Given the description of an element on the screen output the (x, y) to click on. 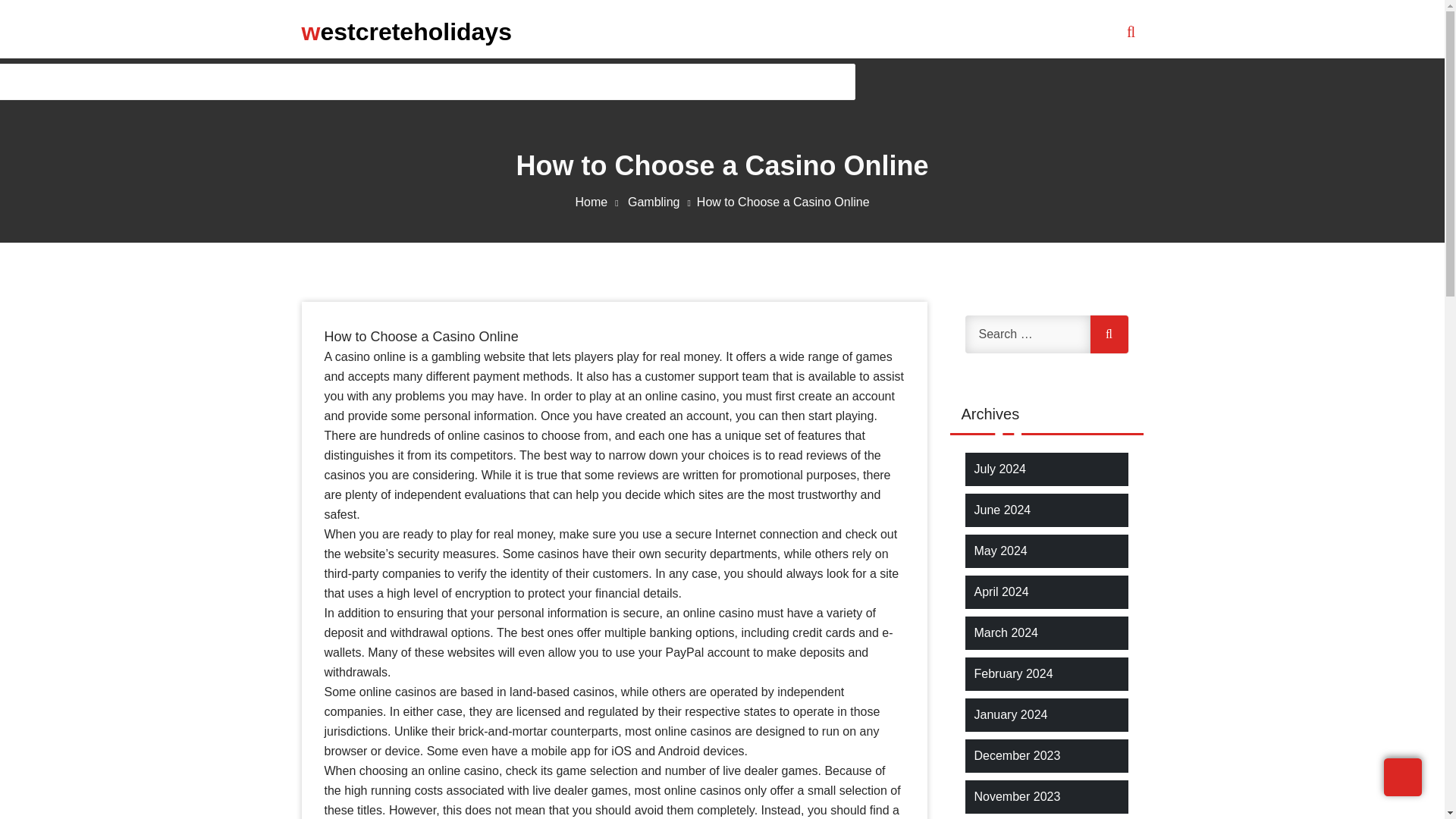
May 2024 (1000, 551)
July 2024 (1000, 469)
Home (599, 201)
Gambling (662, 201)
June 2024 (1002, 510)
February 2024 (1013, 674)
January 2024 (1010, 714)
November 2023 (1016, 796)
December 2023 (1016, 755)
March 2024 (1006, 633)
April 2024 (1000, 592)
westcreteholidays (406, 31)
